Given the description of an element on the screen output the (x, y) to click on. 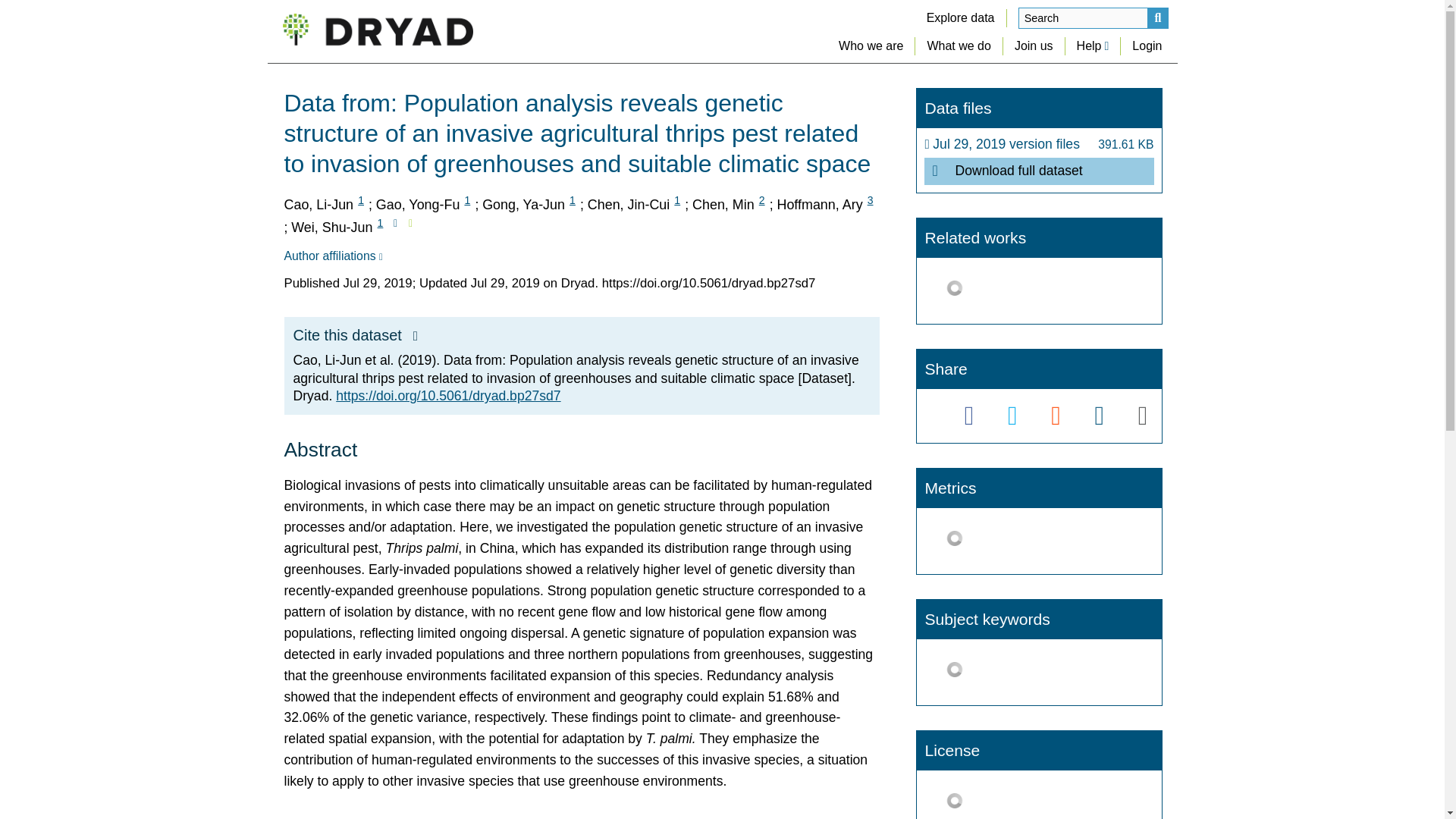
Who we are (870, 45)
1 (360, 200)
1 (676, 200)
Author affiliations (332, 256)
Copy citation (415, 336)
1 (571, 200)
1 (379, 223)
3 (870, 200)
1 (467, 200)
2 (762, 200)
ORCID: 0000-0001-7398-0968 (410, 223)
